Given the description of an element on the screen output the (x, y) to click on. 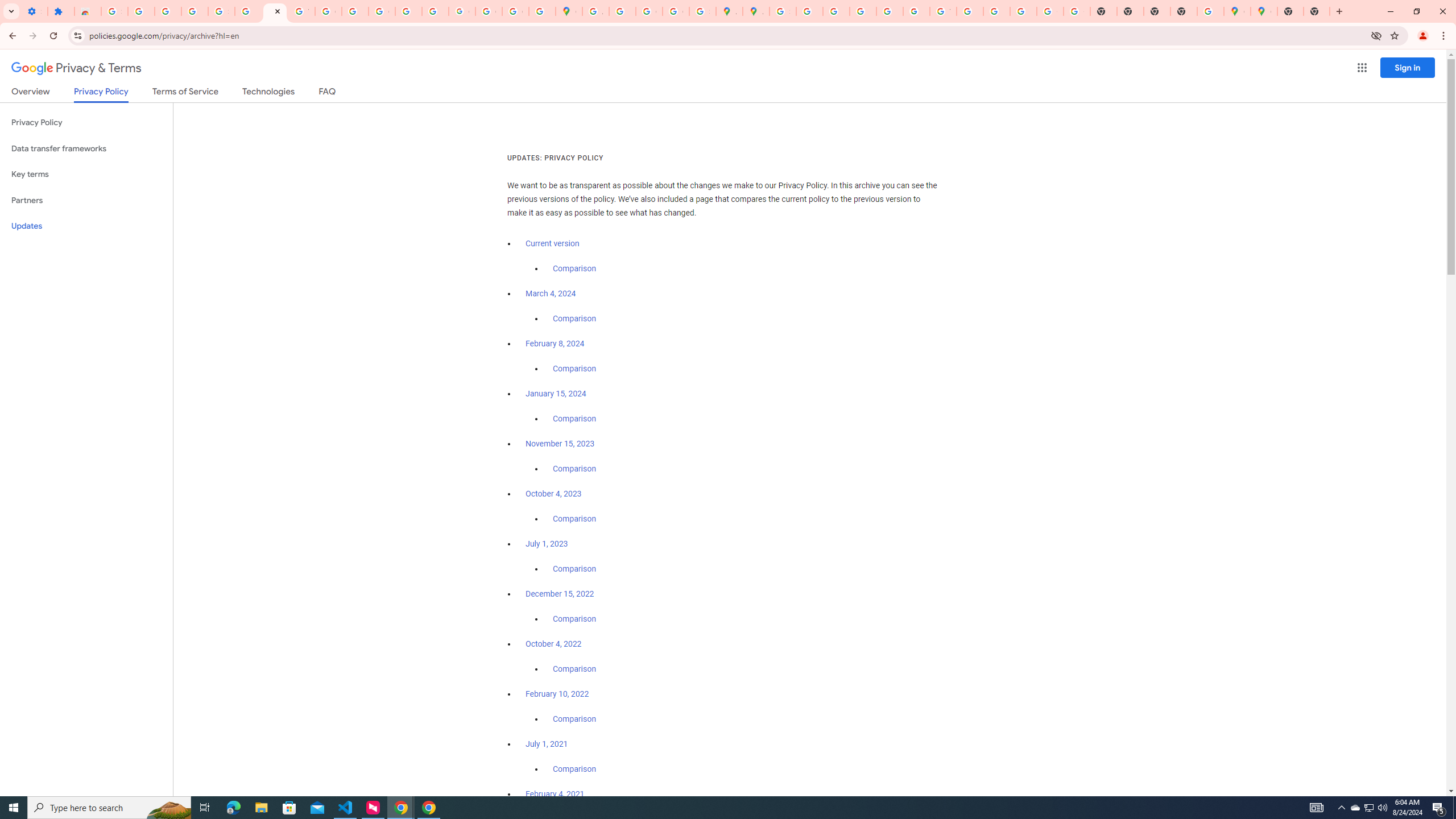
New Tab (1316, 11)
Comparison (574, 768)
January 15, 2024 (555, 394)
Sign in - Google Accounts (114, 11)
Privacy Help Center - Policies Help (862, 11)
